Given the description of an element on the screen output the (x, y) to click on. 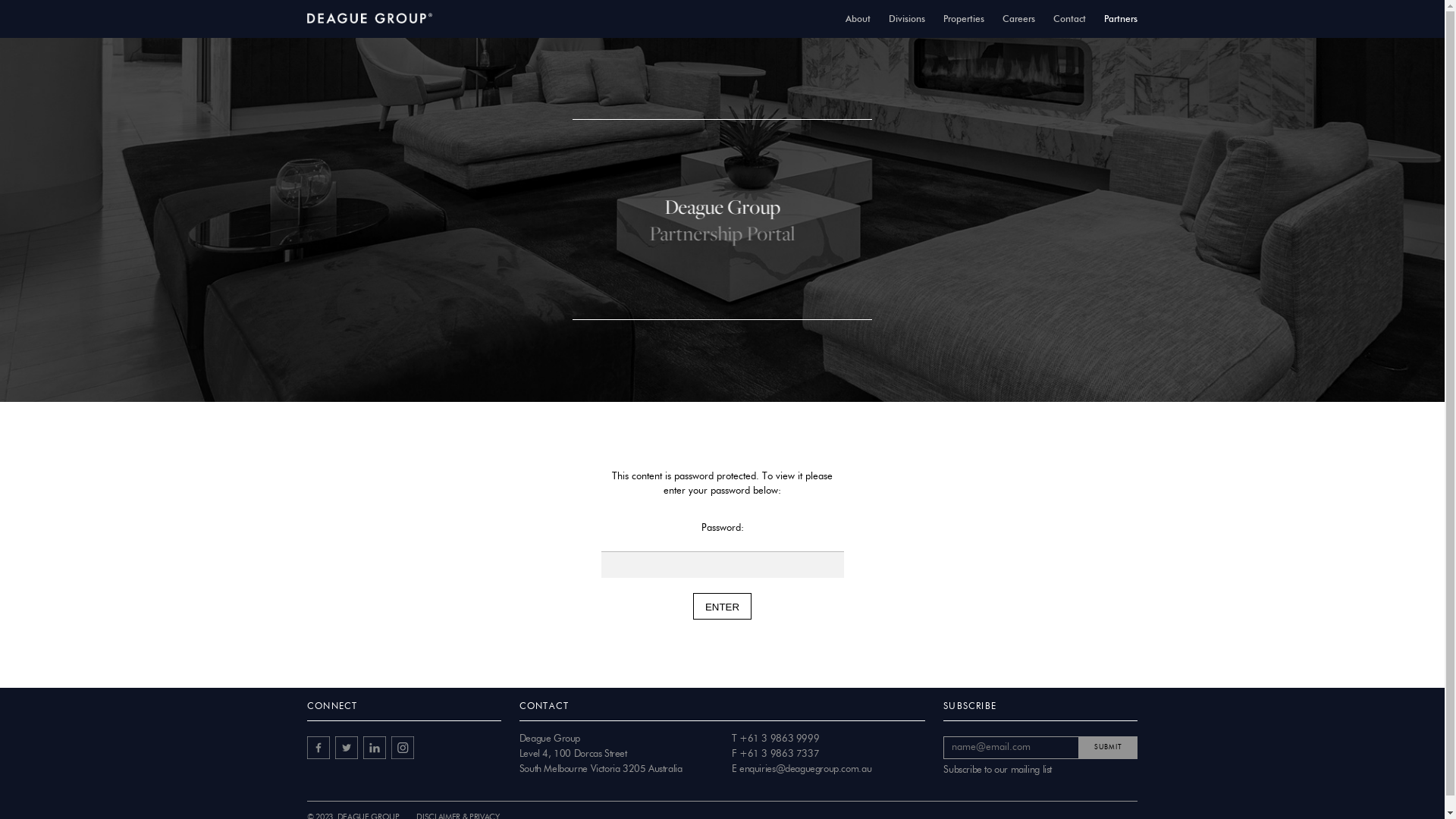
Partners Element type: text (1120, 18)
Enter Element type: text (722, 606)
Submit Element type: text (1108, 747)
About Element type: text (857, 18)
Properties Element type: text (963, 18)
Contact Element type: text (1069, 18)
Divisions Element type: text (906, 18)
Careers Element type: text (1018, 18)
enquiries@deaguegroup.com.au Element type: text (805, 769)
